Given the description of an element on the screen output the (x, y) to click on. 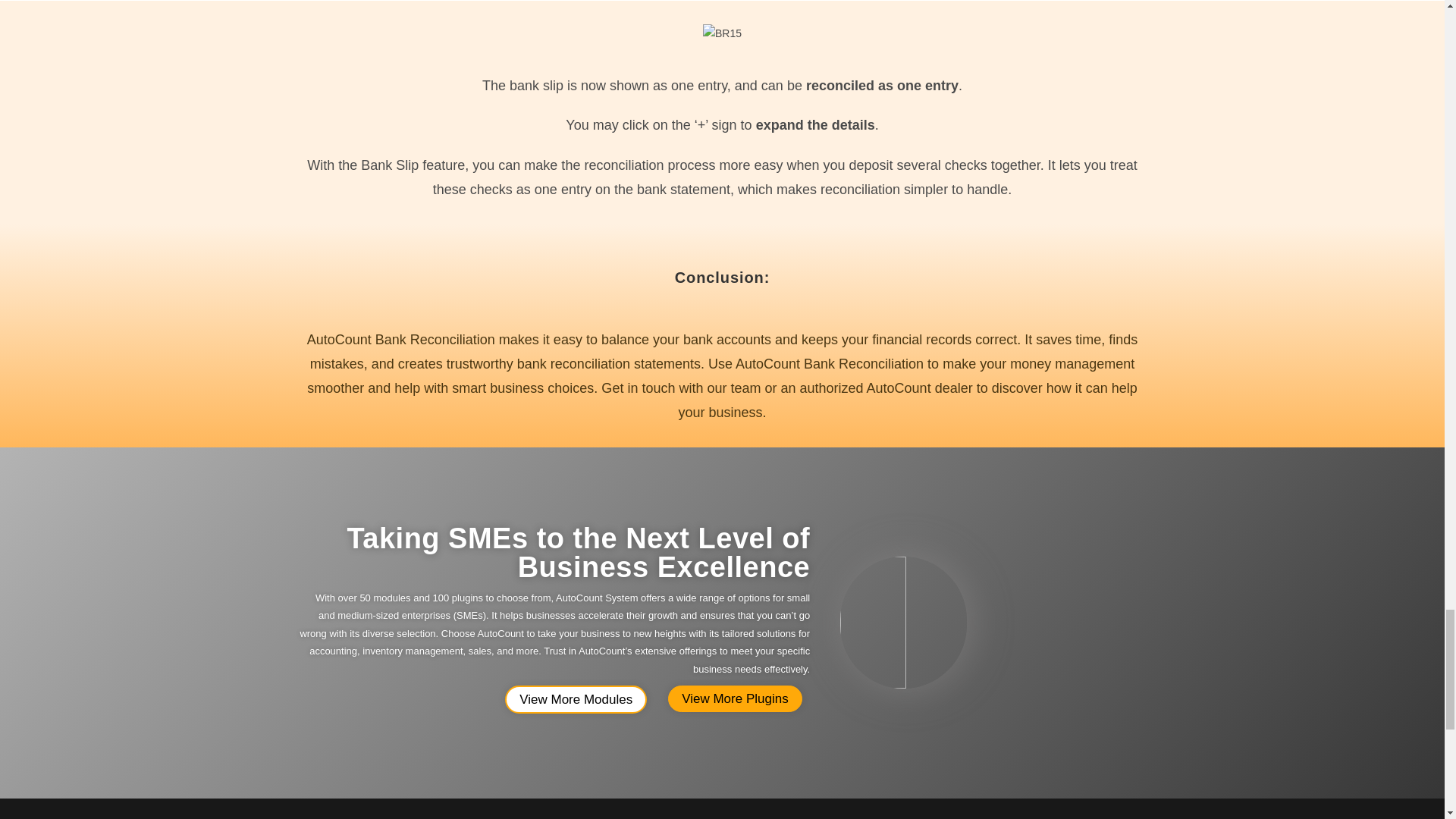
BR15 (722, 33)
